Given the description of an element on the screen output the (x, y) to click on. 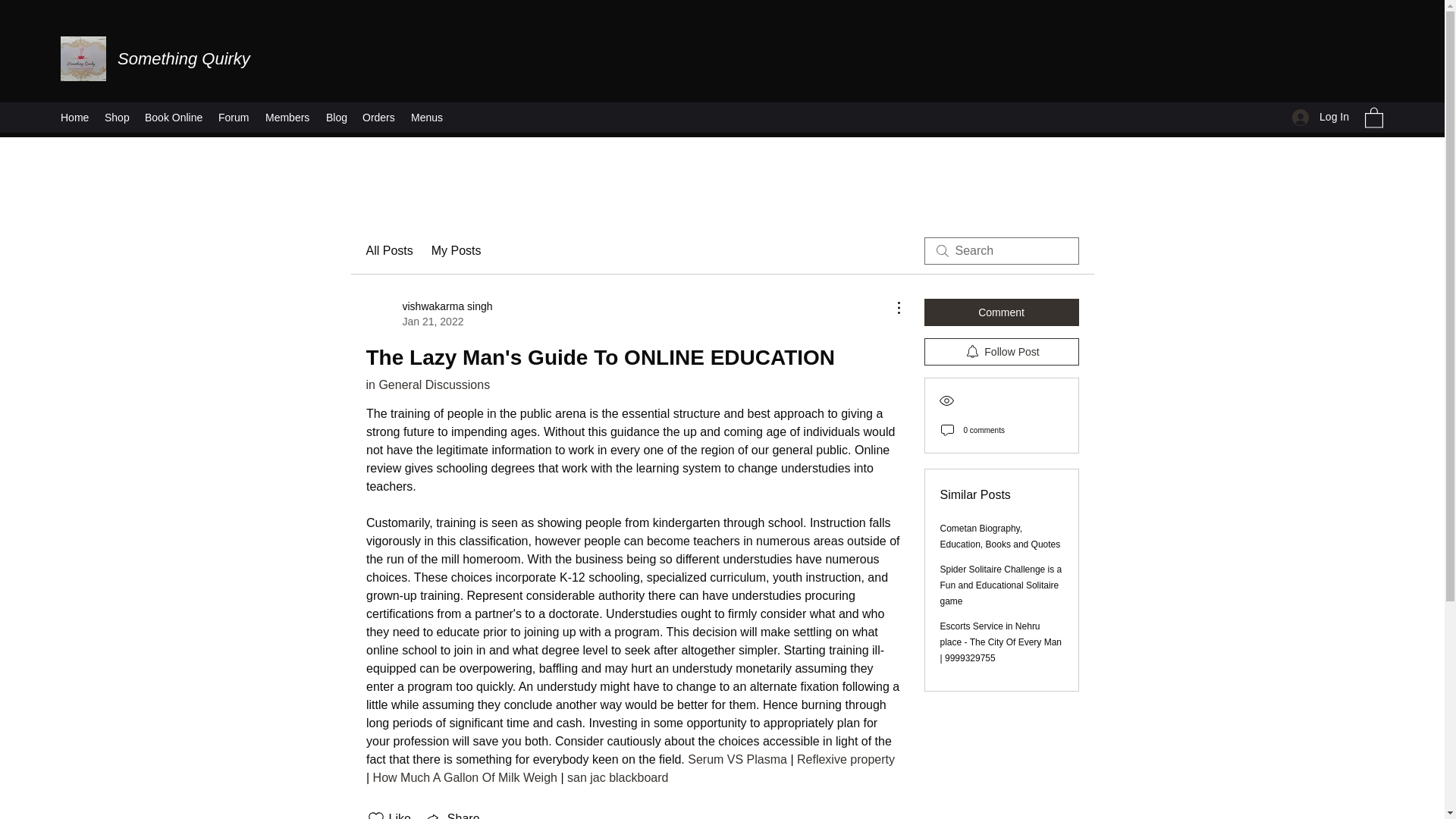
All Posts (388, 250)
in General Discussions (427, 384)
Forum (234, 117)
Home (74, 117)
Follow Post (428, 313)
Members (1000, 351)
Something Quirky (287, 117)
My Posts (183, 58)
